Given the description of an element on the screen output the (x, y) to click on. 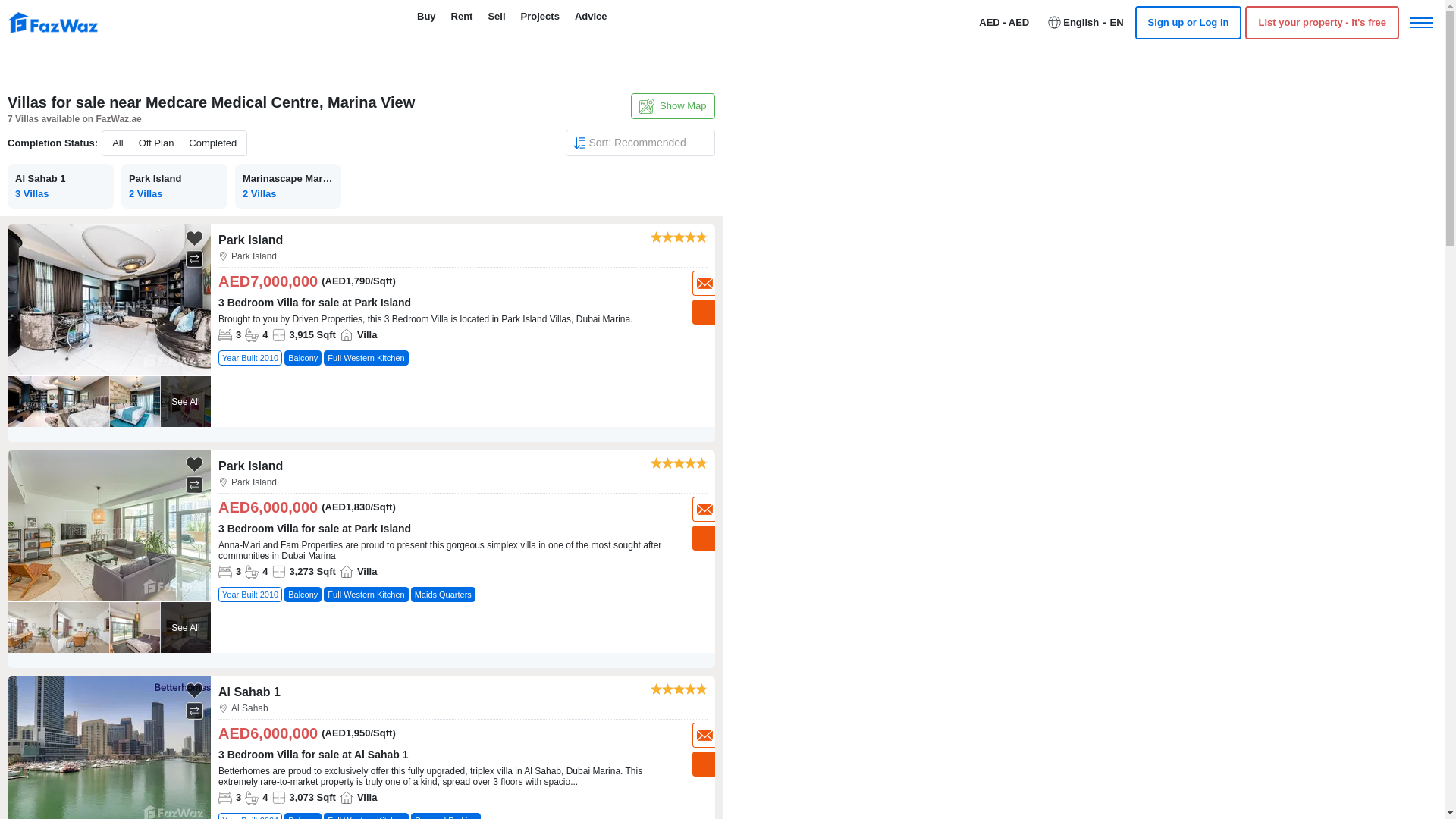
Buy (426, 16)
Projects (540, 16)
Rent (462, 16)
List your property - it's free (1321, 22)
Sell (496, 16)
